Given the description of an element on the screen output the (x, y) to click on. 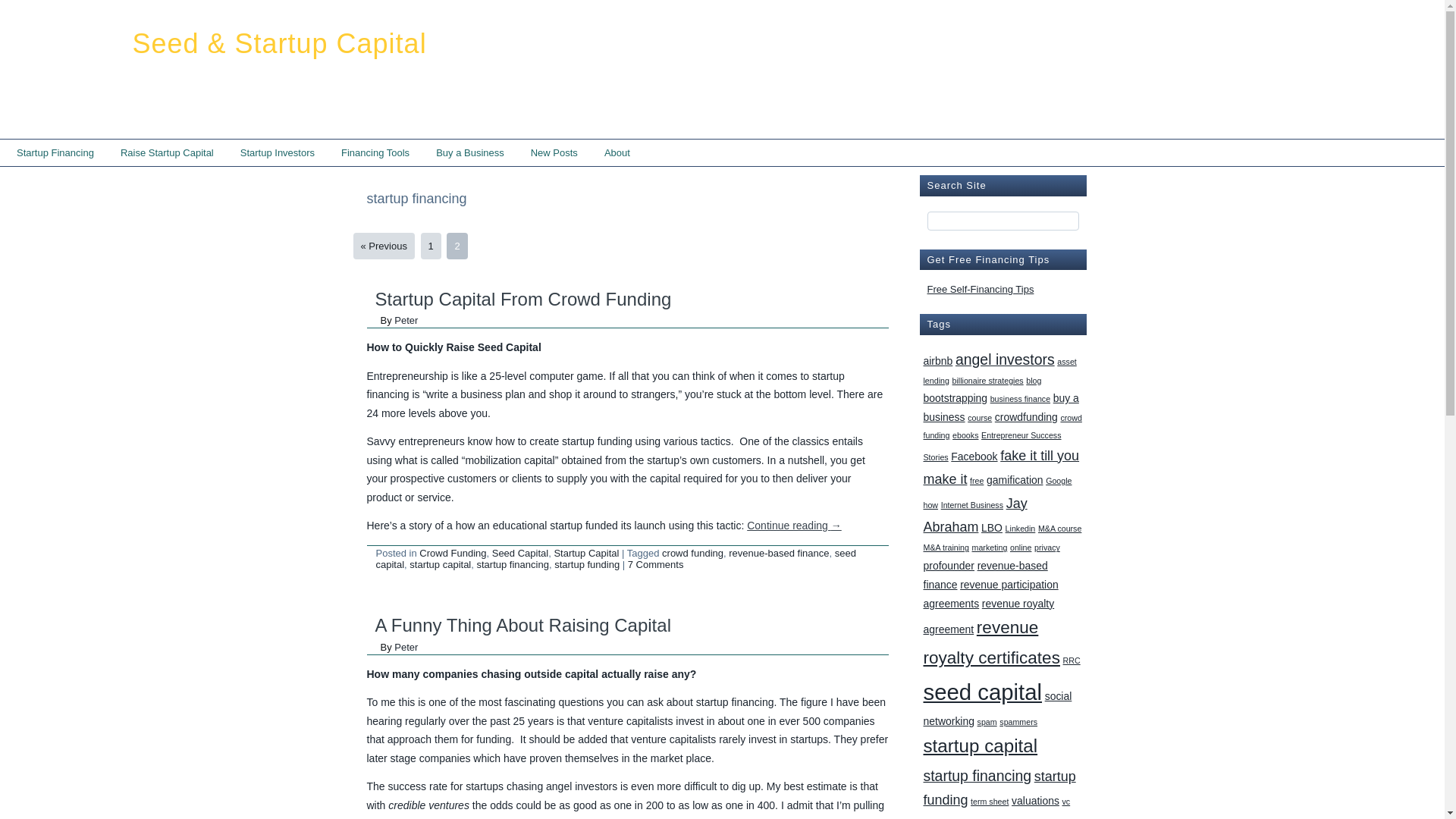
Startup Financing (55, 152)
New Posts (554, 152)
Raise Startup Capital (167, 152)
Startup Financing (55, 152)
Financing Tools (375, 152)
About (617, 152)
Startup Investors (277, 152)
Buy a Business (469, 152)
Raise Startup Capital (167, 152)
